Given the description of an element on the screen output the (x, y) to click on. 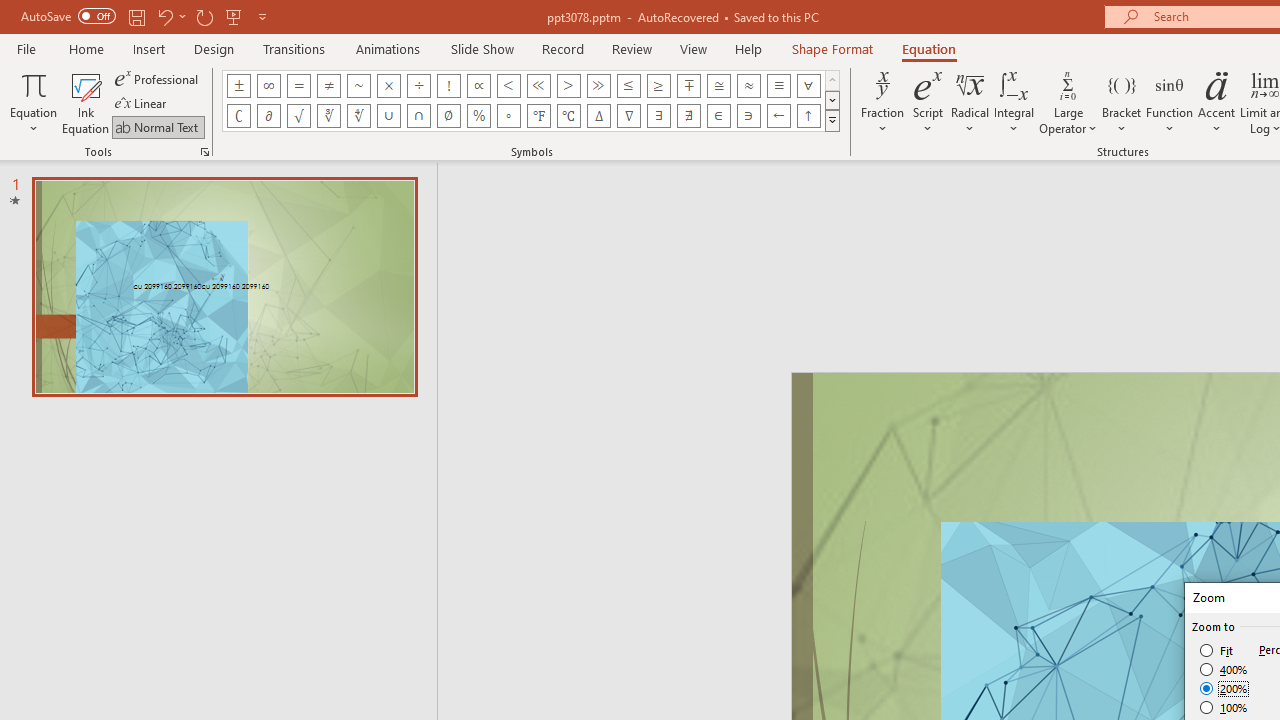
AutomationID: EquationSymbolsInsertGallery (532, 100)
Accent (1216, 102)
Equation Symbol Multiplication Sign (388, 85)
Equation Symbol Less Than or Equal To (628, 85)
Equation Symbol Nabla (628, 115)
Equation Symbol Contains as Member (748, 115)
Equation Symbol Much Greater Than (598, 85)
Equation Symbol Degrees (508, 115)
Script (927, 102)
